Given the description of an element on the screen output the (x, y) to click on. 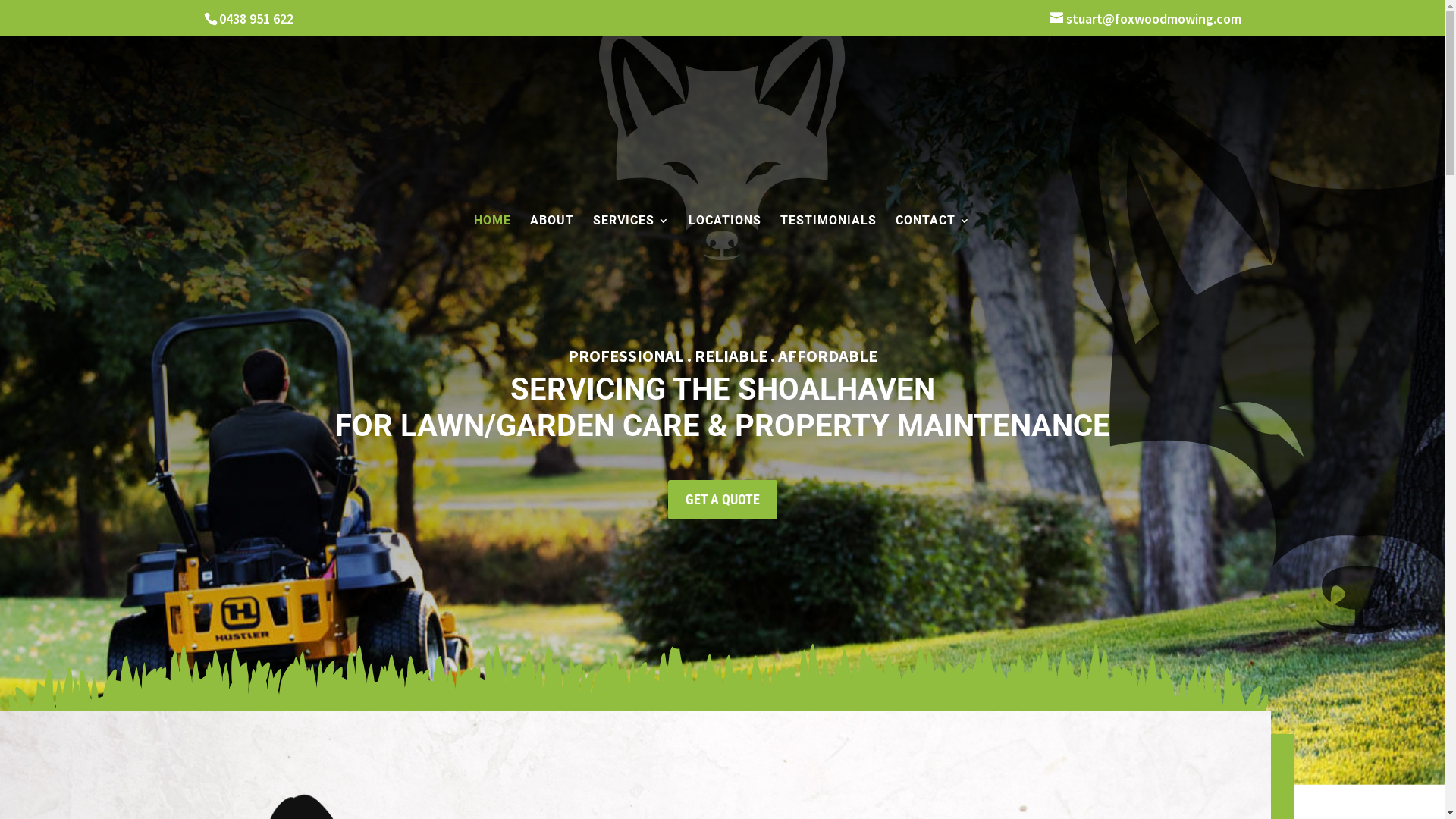
stuart@foxwoodmowing.com Element type: text (1145, 17)
GET A QUOTE Element type: text (721, 499)
ABOUT Element type: text (552, 237)
TESTIMONIALS Element type: text (828, 237)
CONTACT Element type: text (932, 237)
SERVICES Element type: text (631, 237)
LOCATIONS Element type: text (724, 237)
HOME Element type: text (492, 237)
Foxwood Mowing & Property Maintenance Element type: hover (721, 141)
